Given the description of an element on the screen output the (x, y) to click on. 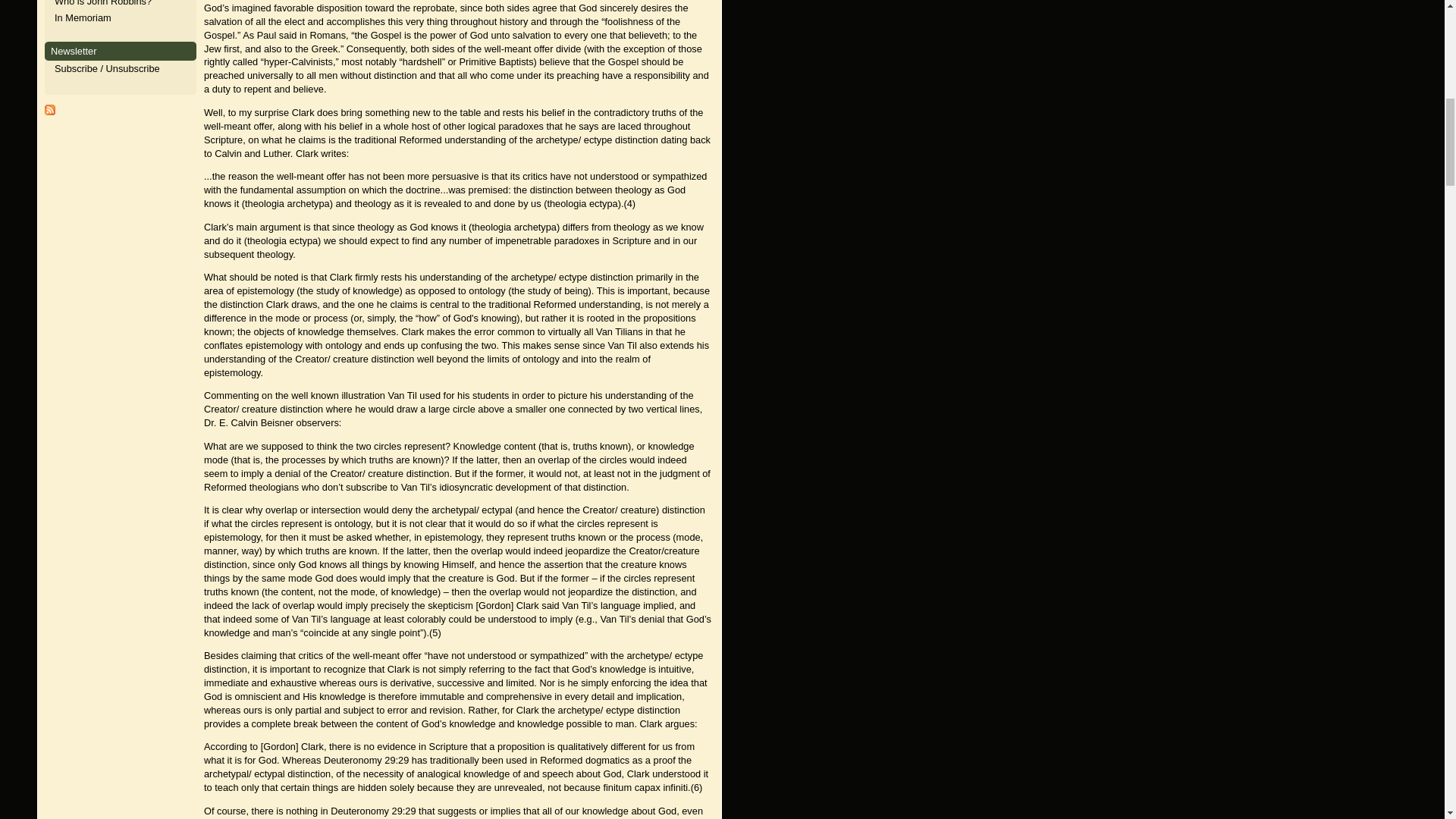
In Memoriam (83, 17)
RSS Feed (50, 111)
Who is John Robbins? (103, 3)
